Given the description of an element on the screen output the (x, y) to click on. 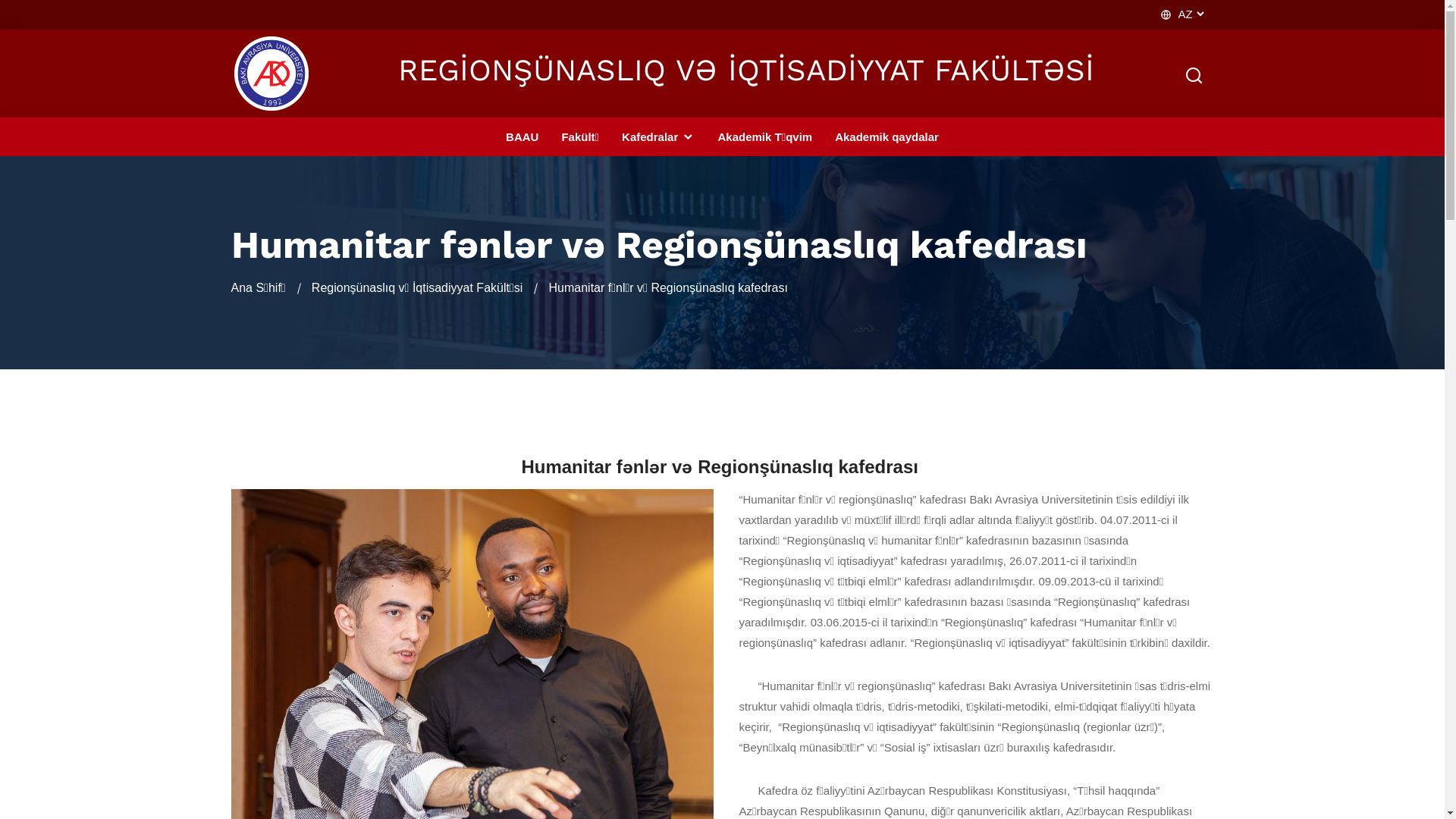
Akademik qaydalar Element type: text (886, 136)
Kafedralar Element type: text (657, 136)
BAAU Element type: text (521, 136)
